Given the description of an element on the screen output the (x, y) to click on. 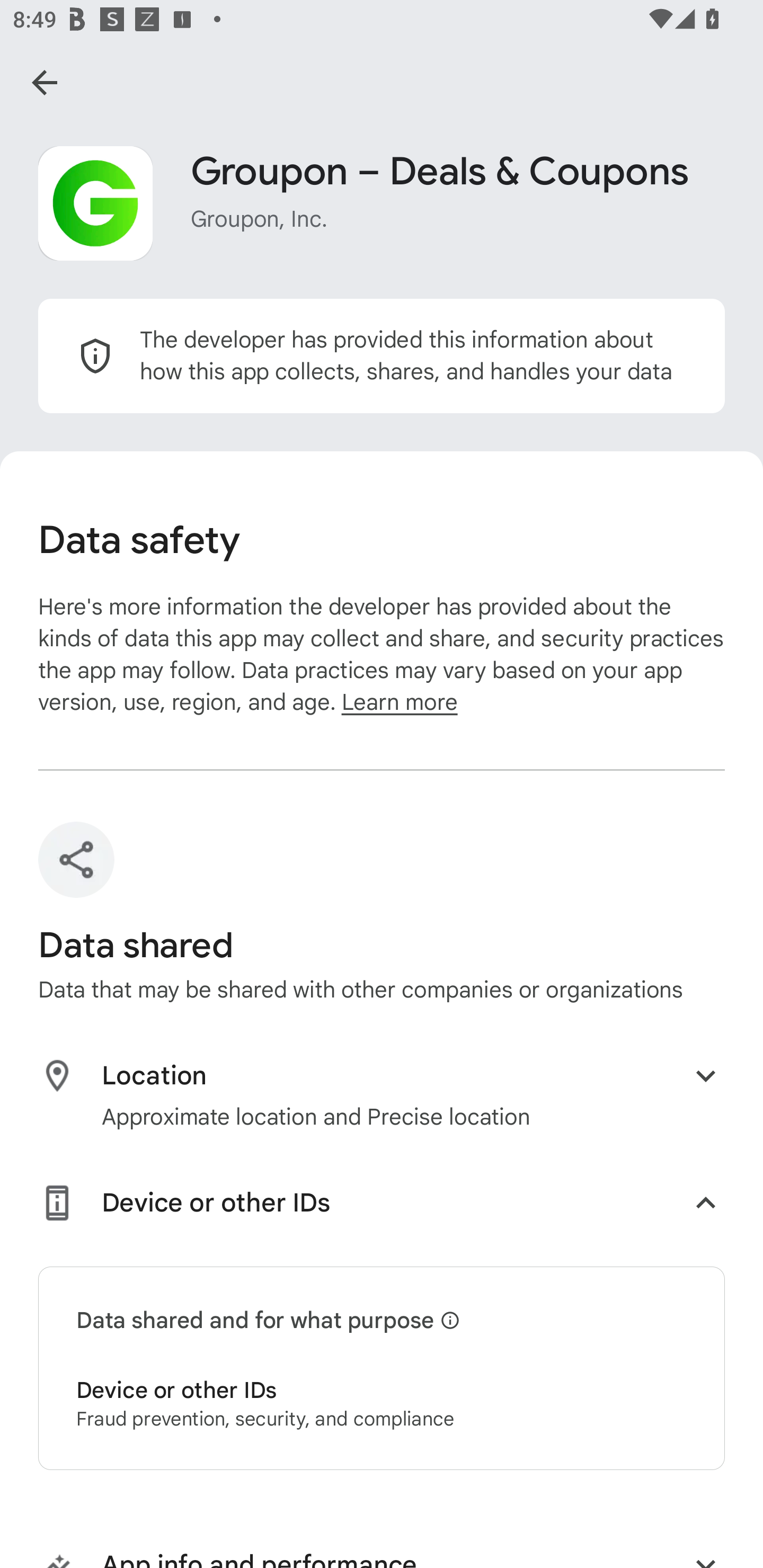
Navigate up (44, 82)
heading Device or other IDs Collapse button (381, 1206)
